Given the description of an element on the screen output the (x, y) to click on. 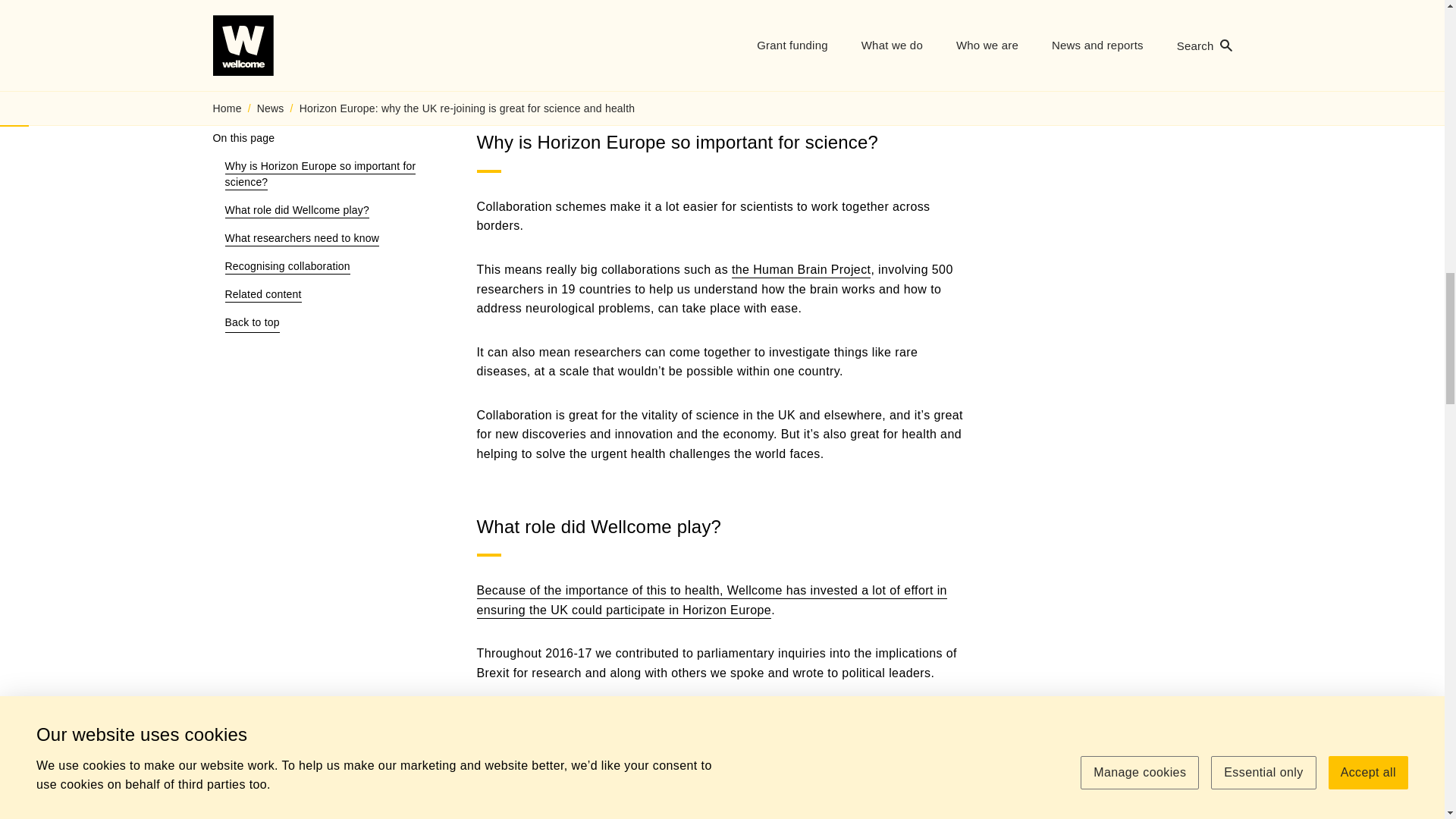
Brexit (711, 601)
